Given the description of an element on the screen output the (x, y) to click on. 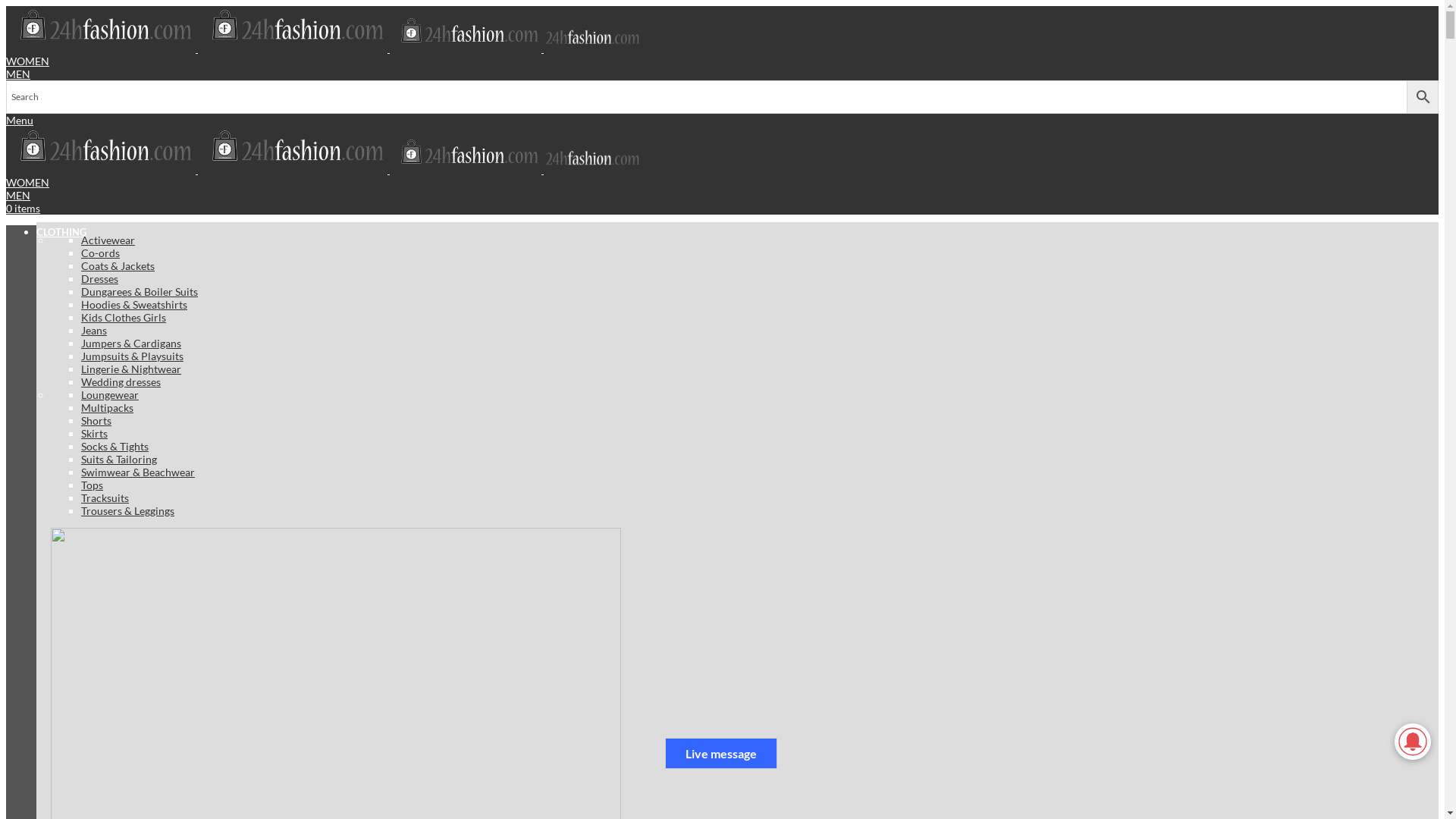
Kids Clothes Girls Element type: text (123, 316)
Skirts Element type: text (94, 432)
Loungewear Element type: text (109, 394)
WOMEN Element type: text (27, 60)
MEN Element type: text (722, 194)
Socks & Tights Element type: text (114, 445)
Co-ords Element type: text (100, 251)
Menu Element type: text (19, 119)
Jeans Element type: text (93, 329)
Multipacks Element type: text (107, 406)
Dungarees & Boiler Suits Element type: text (139, 291)
Jumpers & Cardigans Element type: text (131, 342)
Hoodies & Sweatshirts Element type: text (134, 303)
CLOTHING Element type: text (61, 231)
Activewear Element type: text (107, 239)
Wedding dresses Element type: text (120, 380)
Shorts Element type: text (96, 420)
Lingerie & Nightwear Element type: text (131, 368)
Dresses Element type: text (99, 277)
Trousers & Leggings Element type: text (127, 509)
Tracksuits Element type: text (104, 497)
WOMEN Element type: text (27, 181)
Suits & Tailoring Element type: text (118, 457)
Swimwear & Beachwear Element type: text (137, 471)
0 items Element type: text (722, 207)
MEN Element type: text (722, 73)
Coats & Jackets Element type: text (117, 265)
Live message Element type: text (721, 752)
Tops Element type: text (92, 483)
Jumpsuits & Playsuits Element type: text (132, 354)
